Given the description of an element on the screen output the (x, y) to click on. 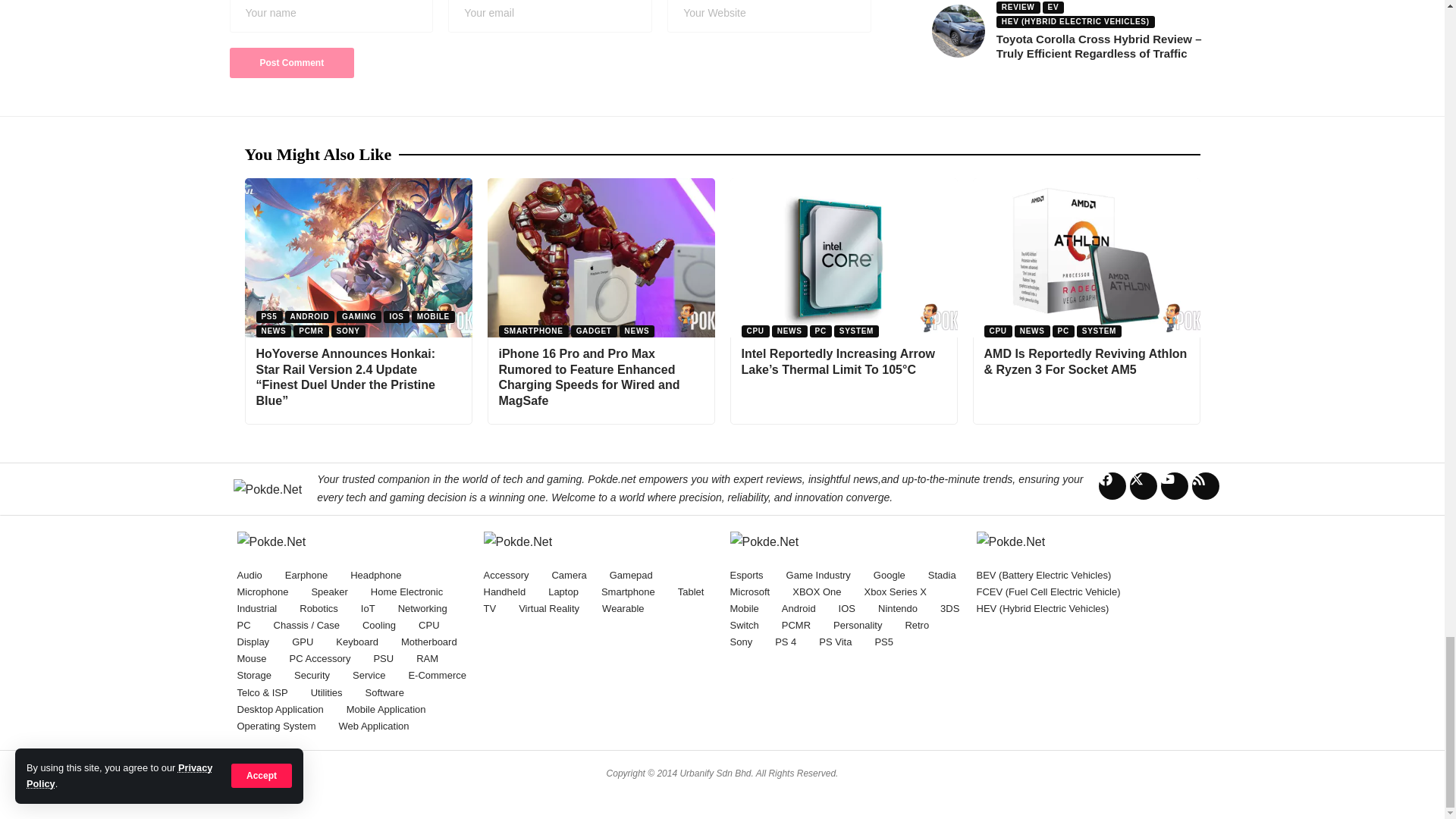
Post Comment (290, 62)
